Given the description of an element on the screen output the (x, y) to click on. 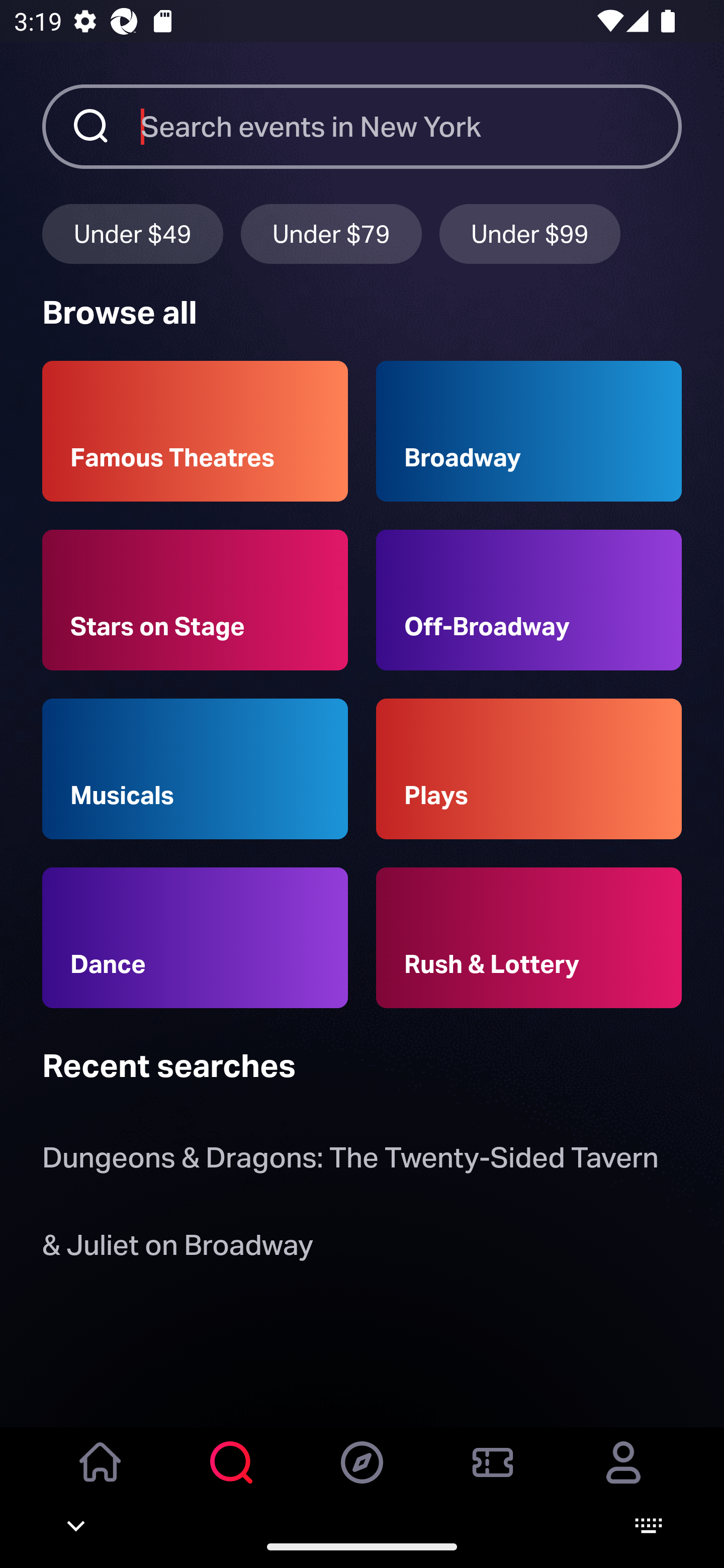
Search events in New York (411, 126)
Under $49 (131, 233)
Under $79 (331, 233)
Under $99 (529, 233)
Famous Theatres (194, 430)
Broadway (528, 430)
Stars on Stage (194, 600)
Off-Broadway (528, 600)
Musicals (194, 768)
Plays (528, 768)
Dance (194, 937)
Rush & Lottery (528, 937)
Dungeons & Dragons: The Twenty-Sided Tavern (349, 1161)
& Juliet on Broadway  (180, 1248)
Home (100, 1475)
Discover (361, 1475)
Orders (492, 1475)
Account (623, 1475)
